Given the description of an element on the screen output the (x, y) to click on. 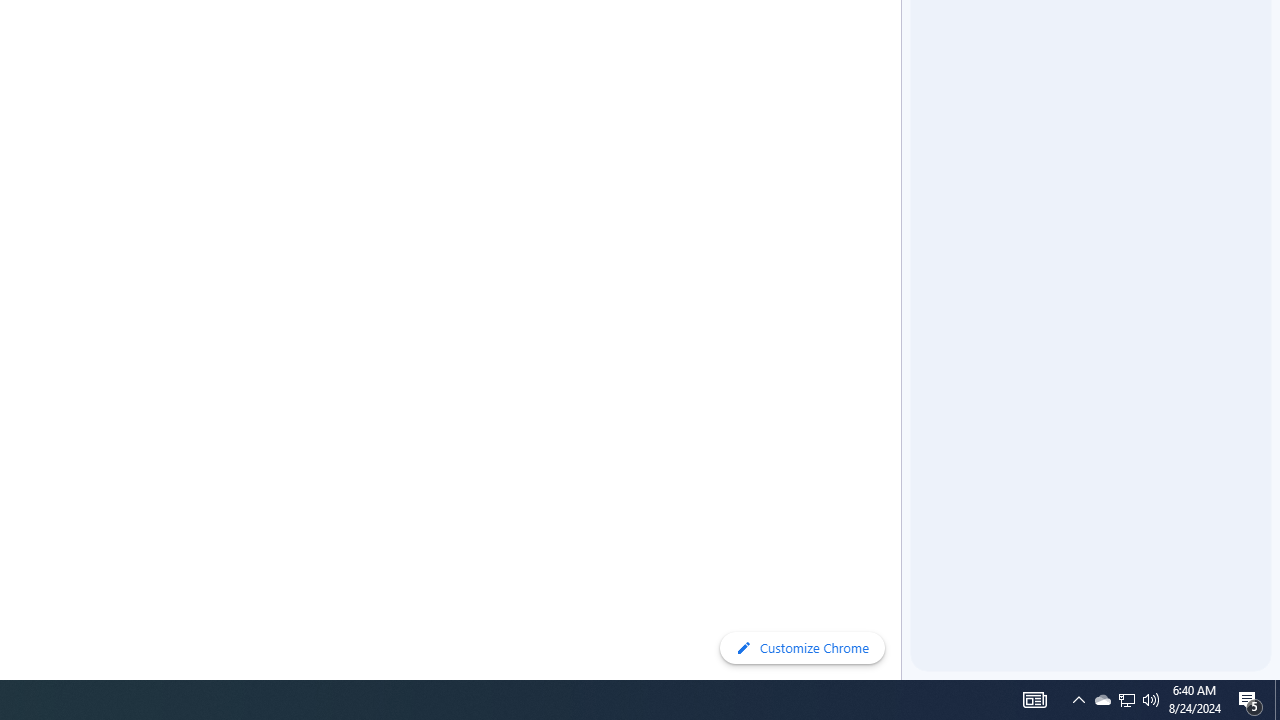
Side Panel Resize Handle (905, 39)
